Given the description of an element on the screen output the (x, y) to click on. 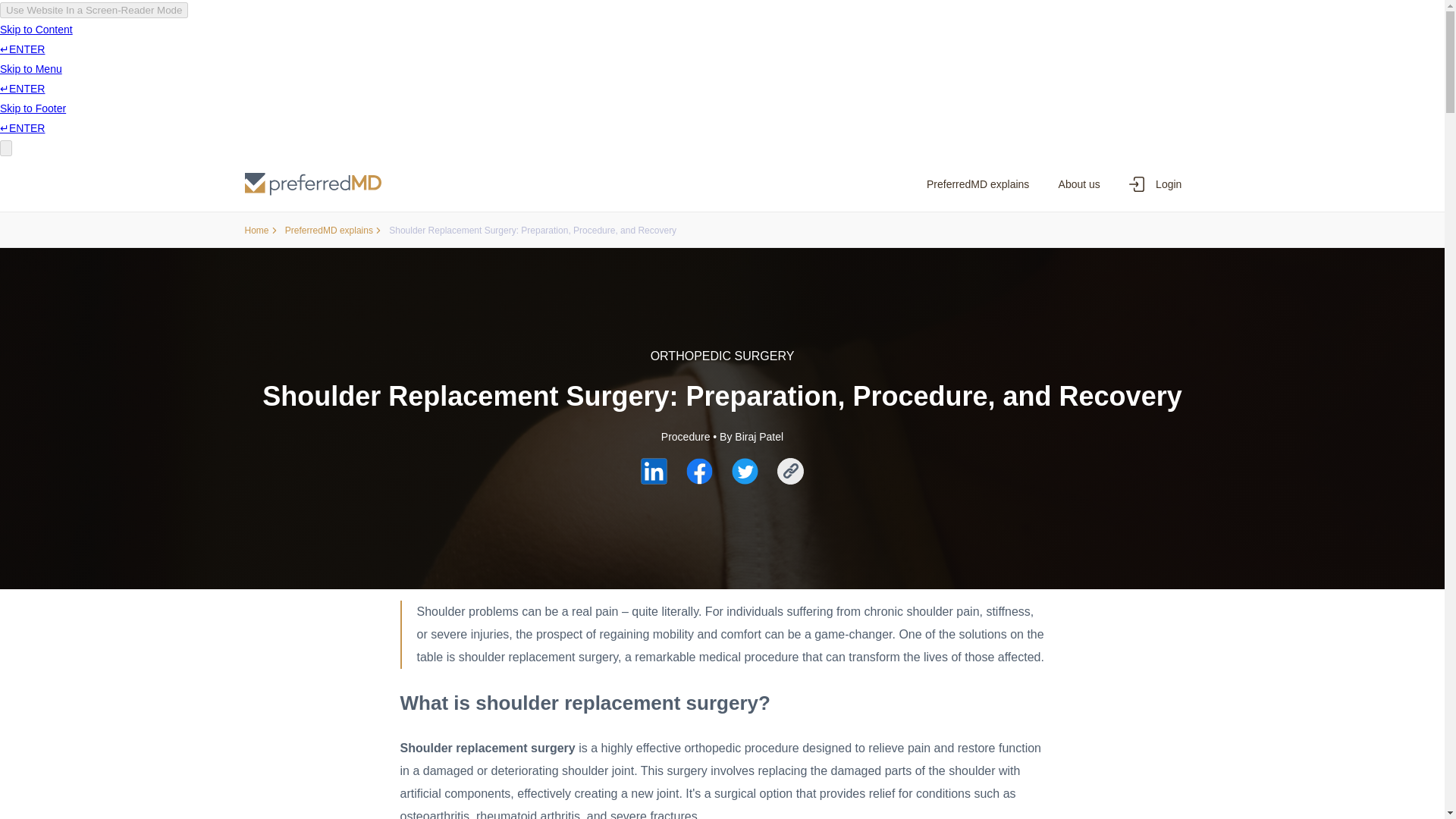
PreferredMD explains (333, 230)
About us (1078, 184)
PreferredMD explains (978, 184)
Login (1155, 184)
Home (260, 230)
